Given the description of an element on the screen output the (x, y) to click on. 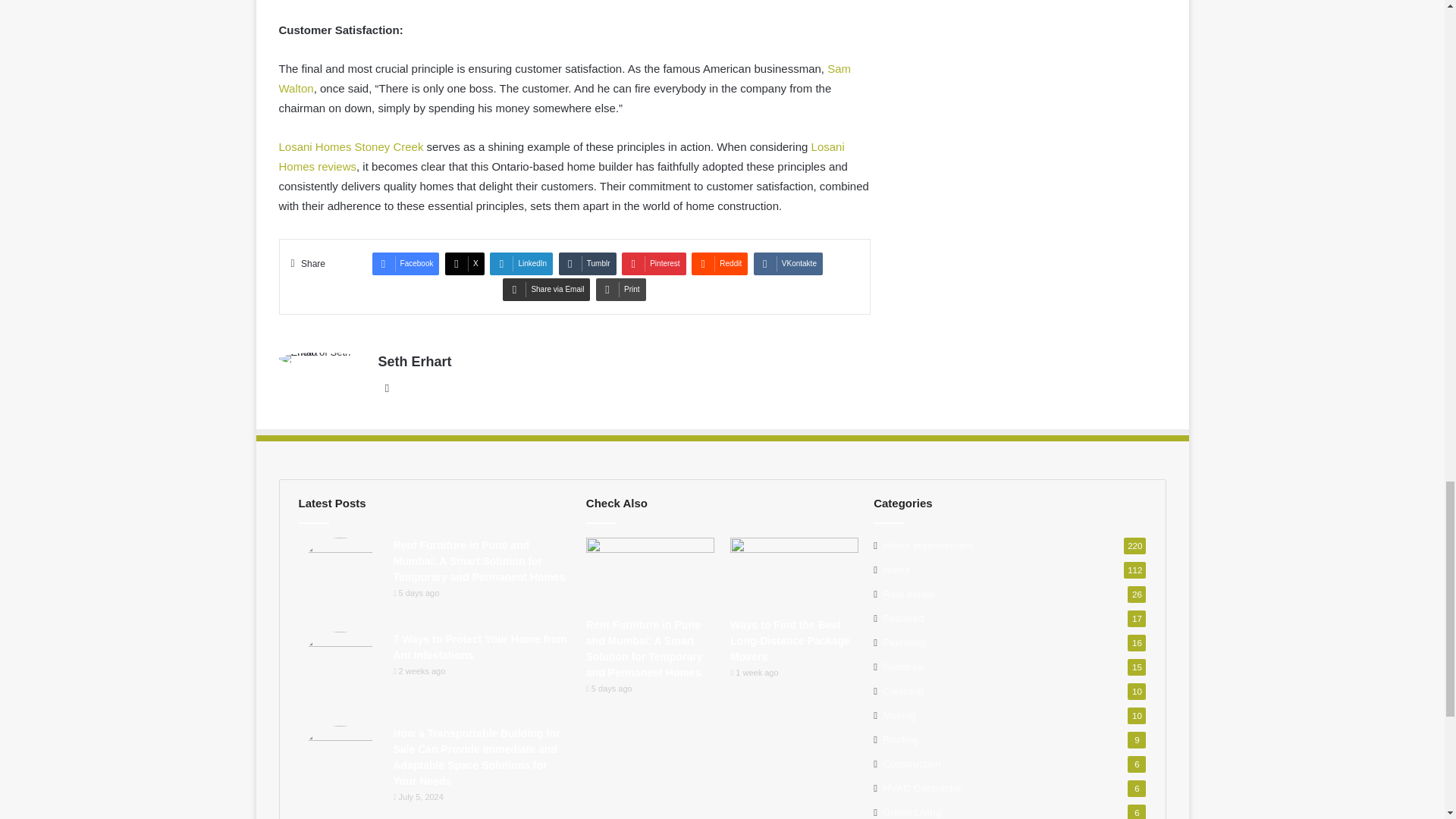
Pinterest (653, 263)
Facebook (405, 263)
Losani Homes reviews (561, 156)
Tumblr (587, 263)
X (464, 263)
Sam Walton (565, 78)
Reddit (719, 263)
Losani Homes Stoney Creek (351, 146)
LinkedIn (521, 263)
VKontakte (788, 263)
